Given the description of an element on the screen output the (x, y) to click on. 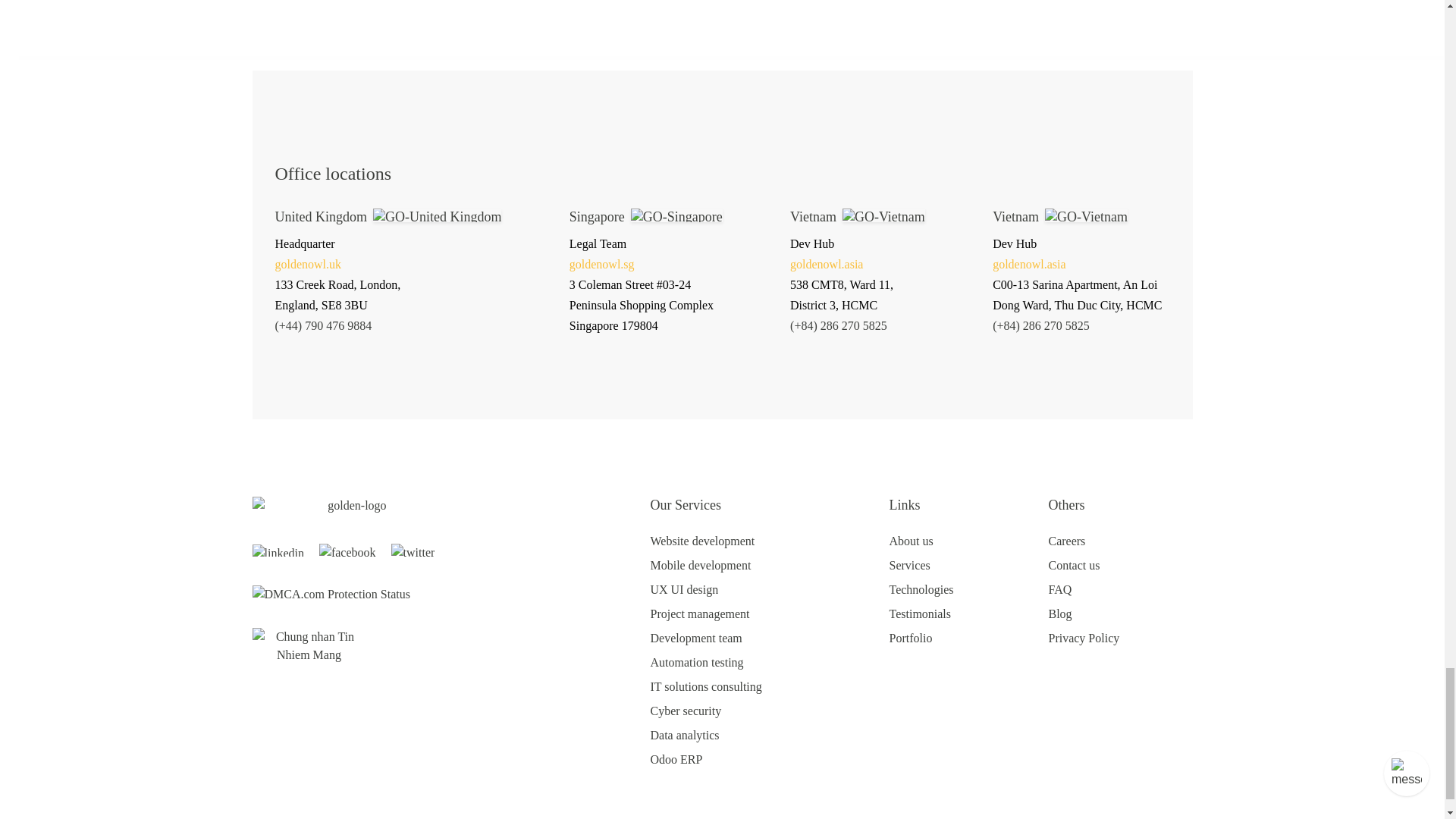
goldenowl.uk (307, 264)
DMCA.com Protection Status (330, 593)
